Given the description of an element on the screen output the (x, y) to click on. 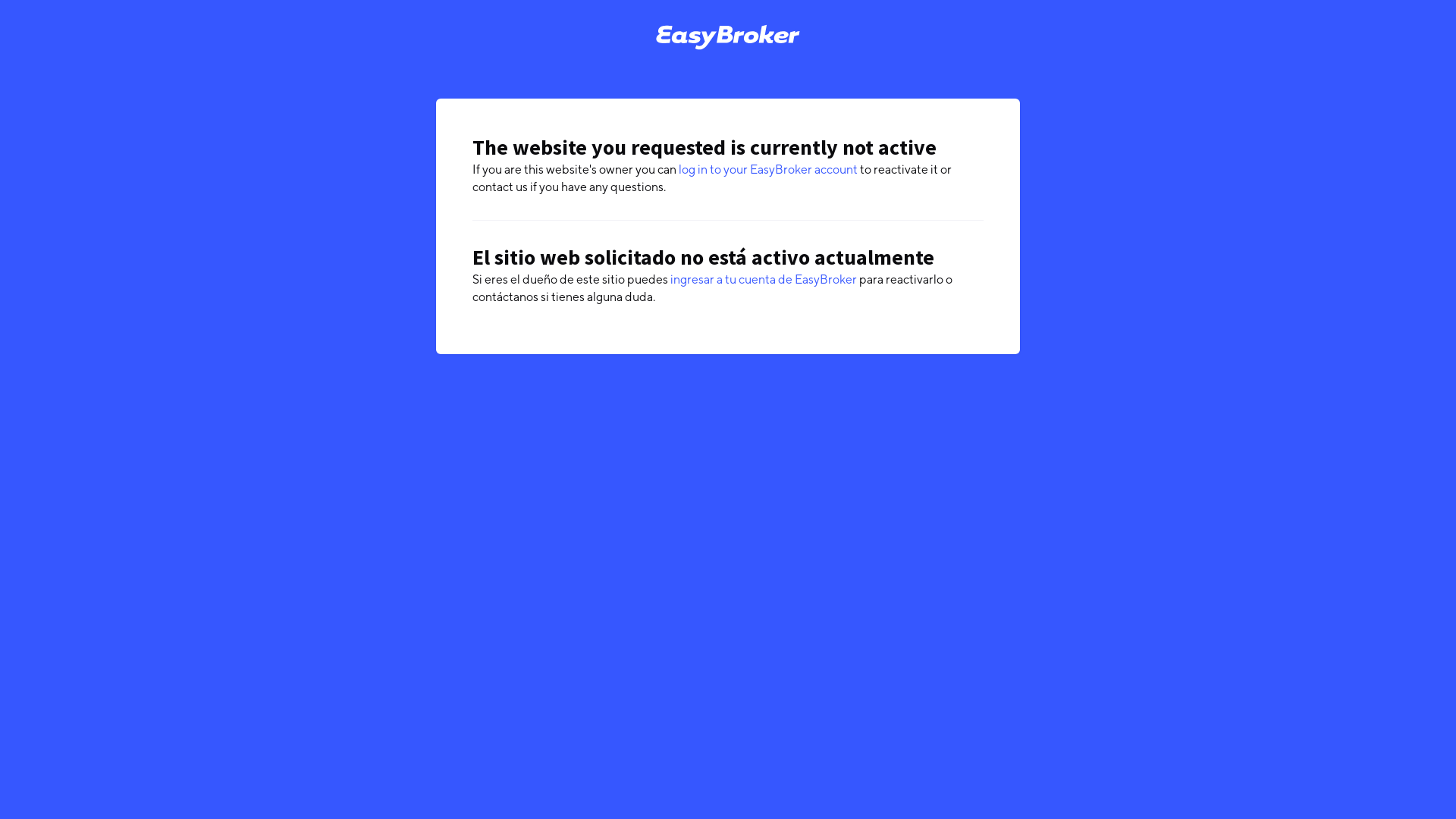
log in to your EasyBroker account Element type: text (767, 169)
ingresar a tu cuenta de EasyBroker Element type: text (763, 279)
